Given the description of an element on the screen output the (x, y) to click on. 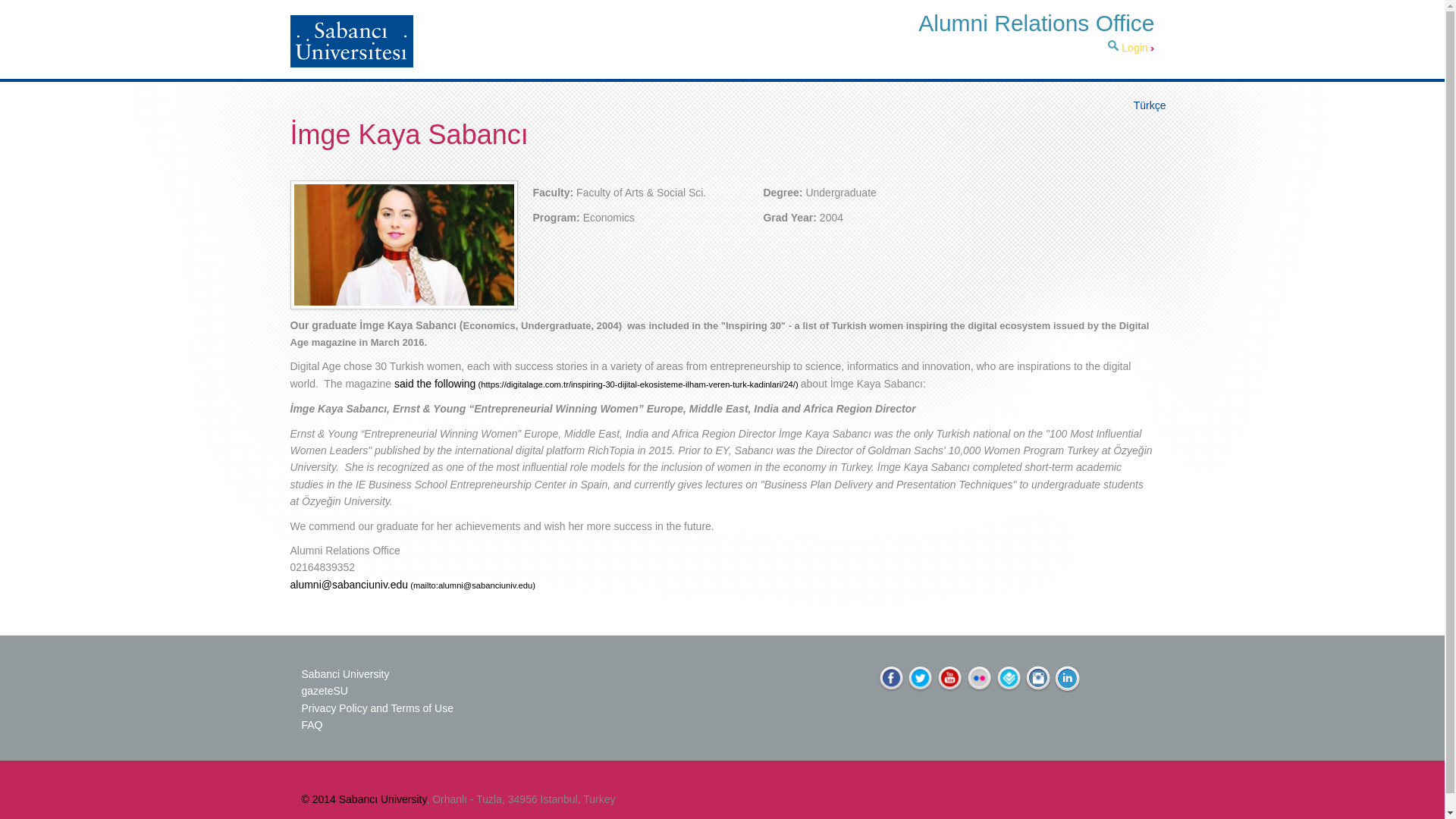
Sabanci University (345, 674)
Privacy Policy and Terms of Use (376, 707)
Login (1137, 47)
gazeteSU  (325, 690)
FAQ (312, 725)
said the following (597, 383)
